Given the description of an element on the screen output the (x, y) to click on. 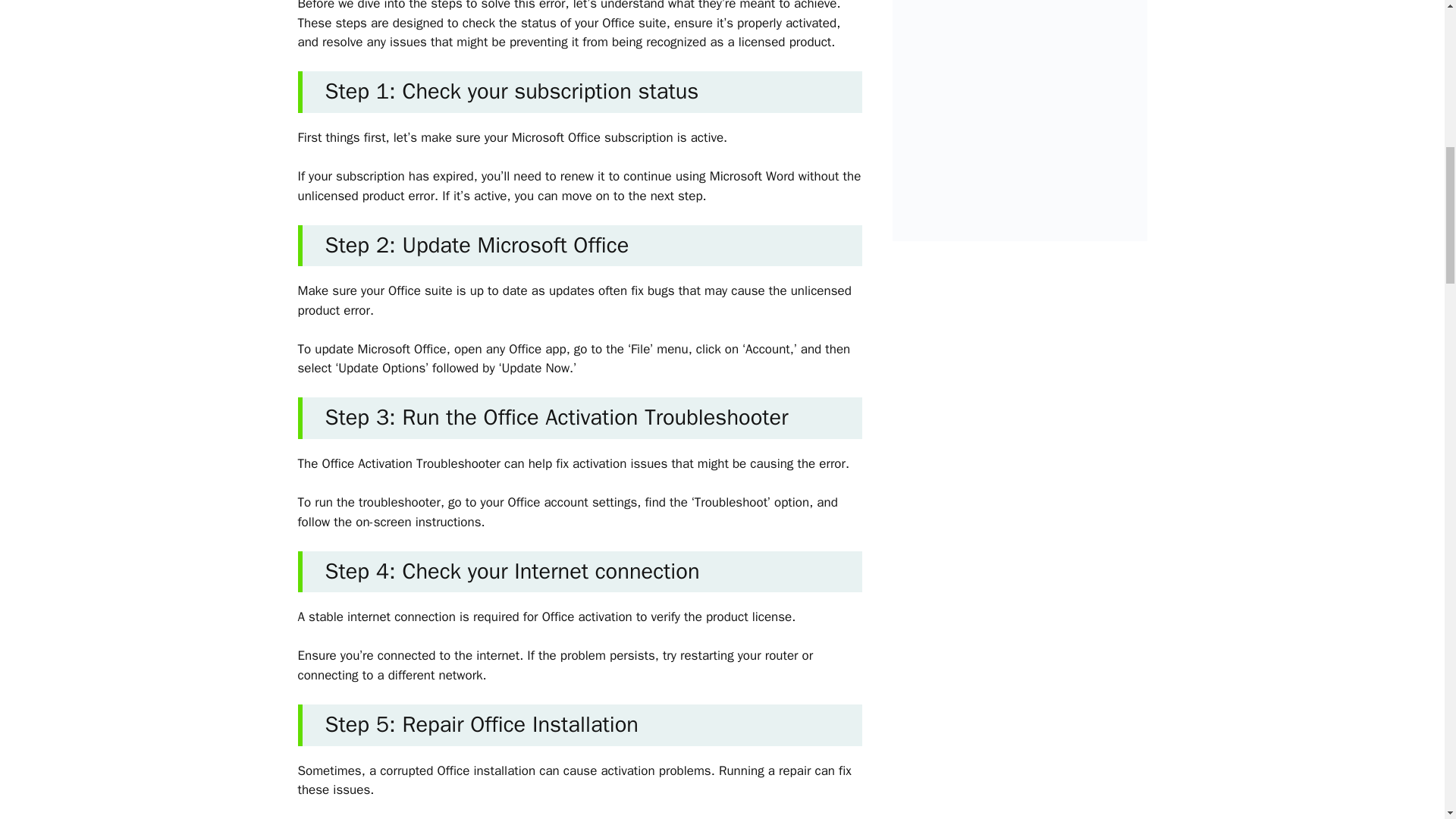
Advertisement (1030, 105)
